Given the description of an element on the screen output the (x, y) to click on. 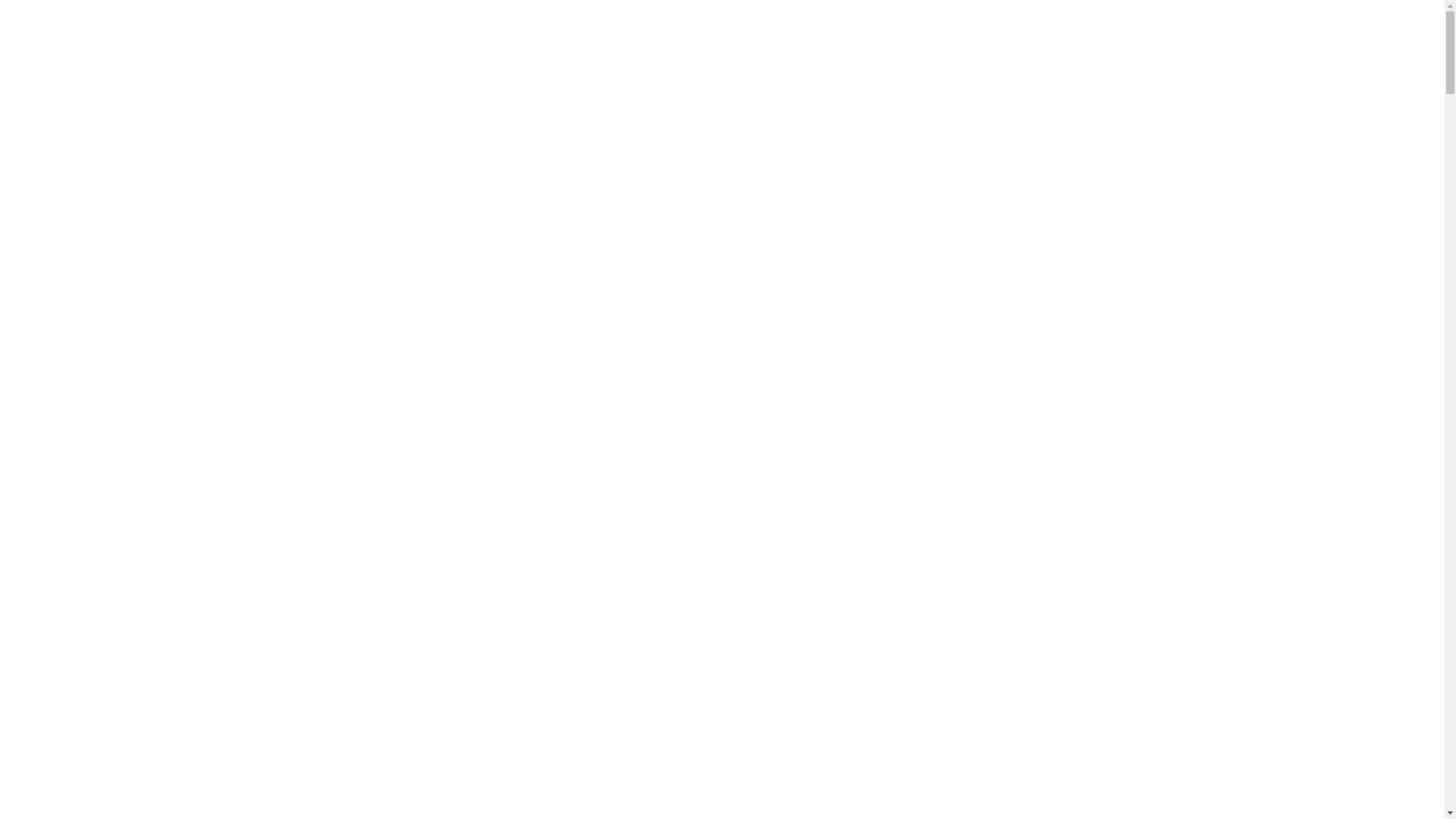
E-DMARK PRO Element type: text (813, 136)
